Given the description of an element on the screen output the (x, y) to click on. 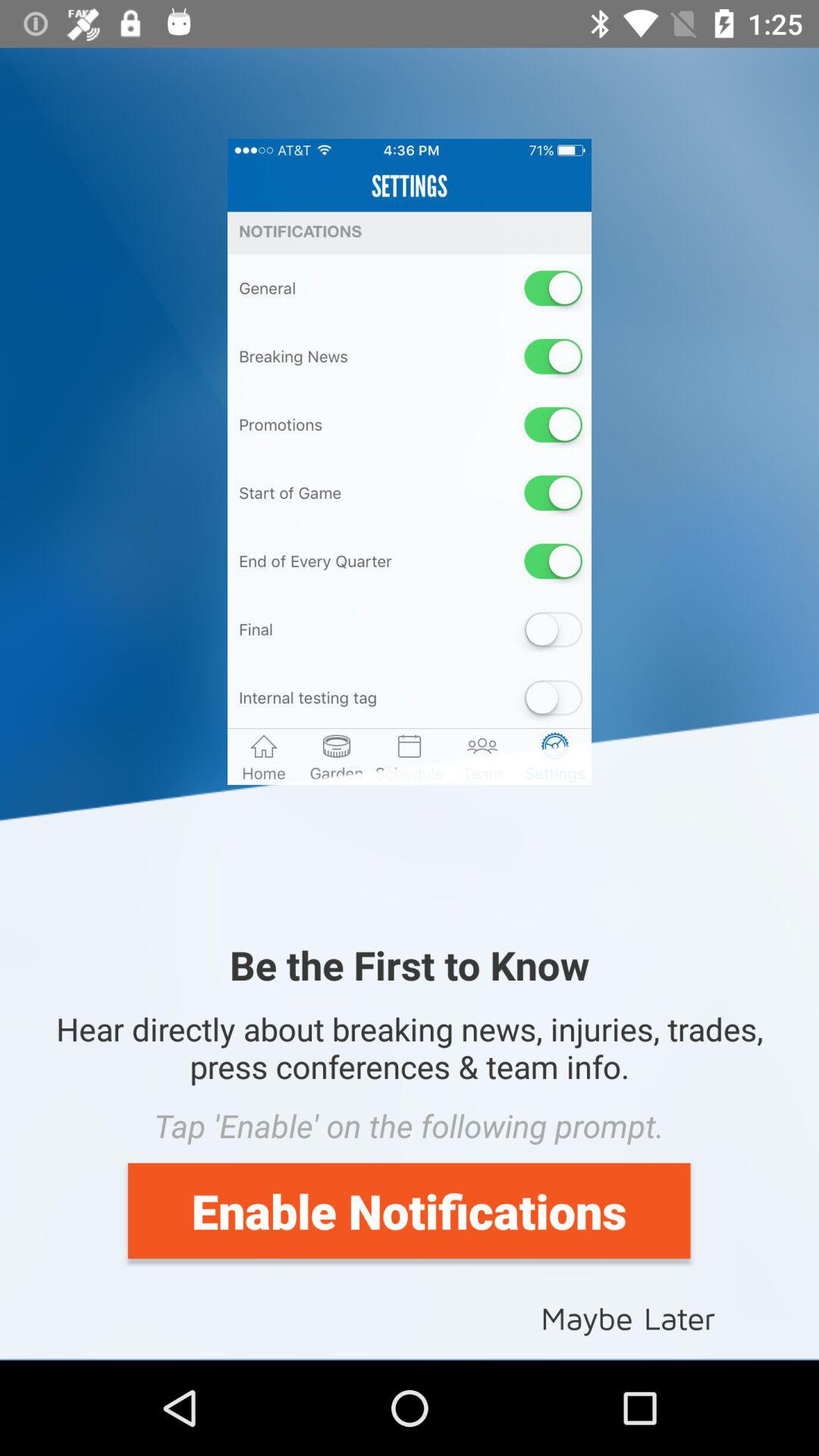
scroll to the maybe later item (627, 1317)
